Given the description of an element on the screen output the (x, y) to click on. 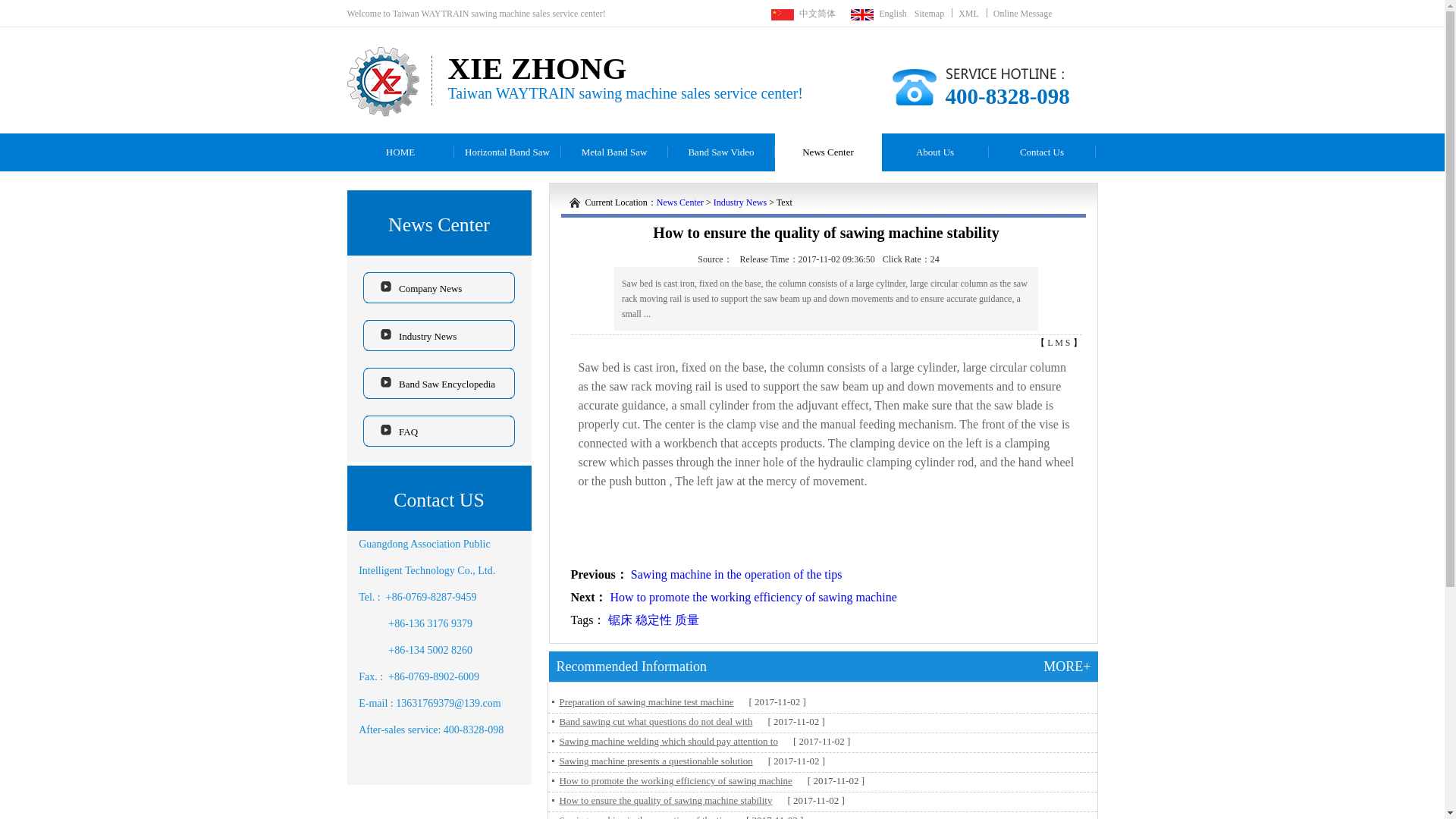
How to promote the working efficiency of sawing machine (753, 596)
FAQ (438, 430)
Sawing machine in the operation of the tips (736, 574)
S (1069, 342)
News Center (828, 152)
Band Saw Encyclopedia (438, 382)
Band Saw Video (720, 152)
Horizontal Band Saw (506, 152)
About Us (934, 152)
News Center (679, 202)
Industry News (438, 335)
Preparation of sawing machine test machine (642, 701)
Metal Band Saw (614, 152)
HOME (400, 152)
Company News (438, 287)
